Given the description of an element on the screen output the (x, y) to click on. 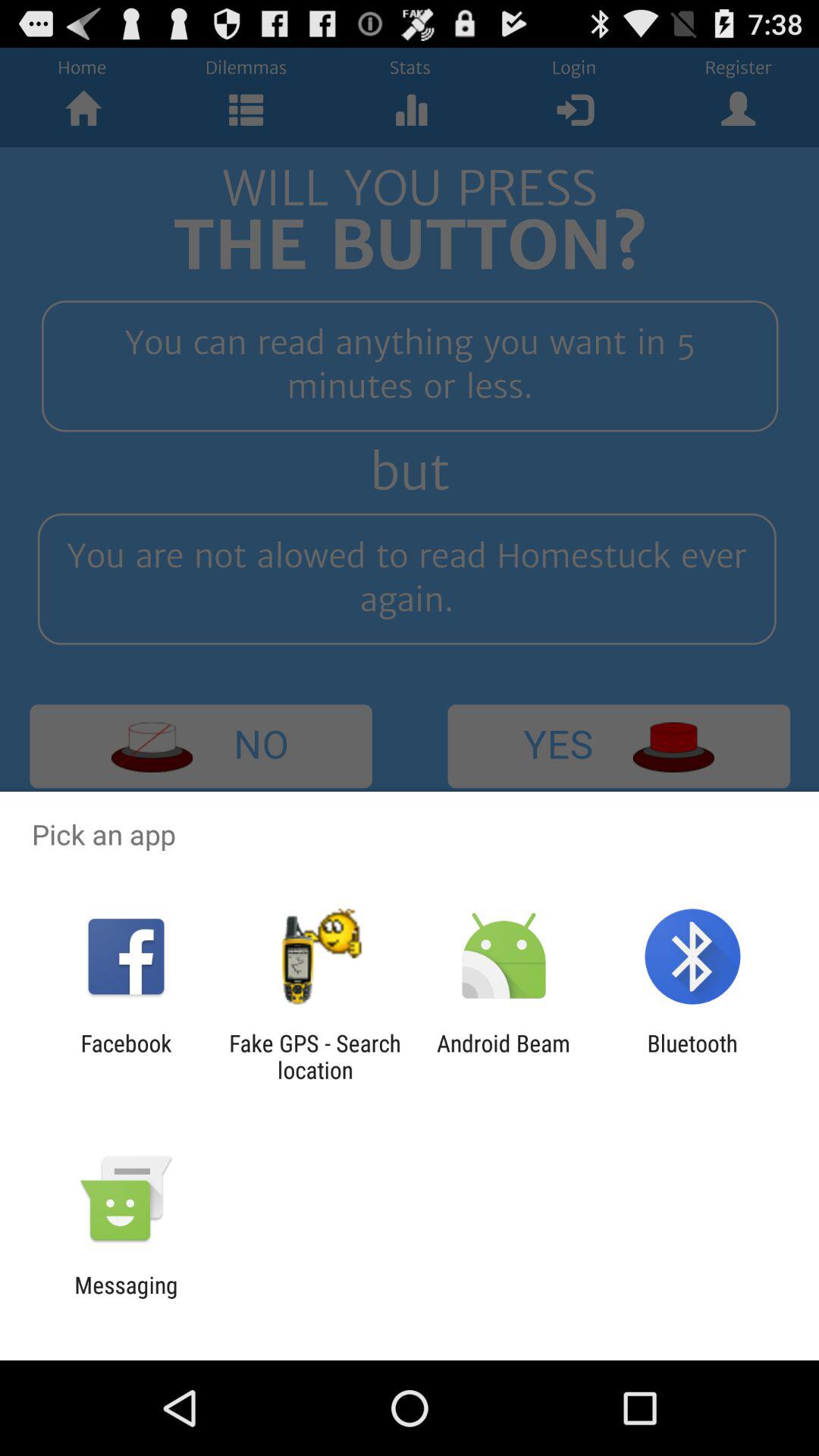
select the messaging icon (126, 1298)
